Given the description of an element on the screen output the (x, y) to click on. 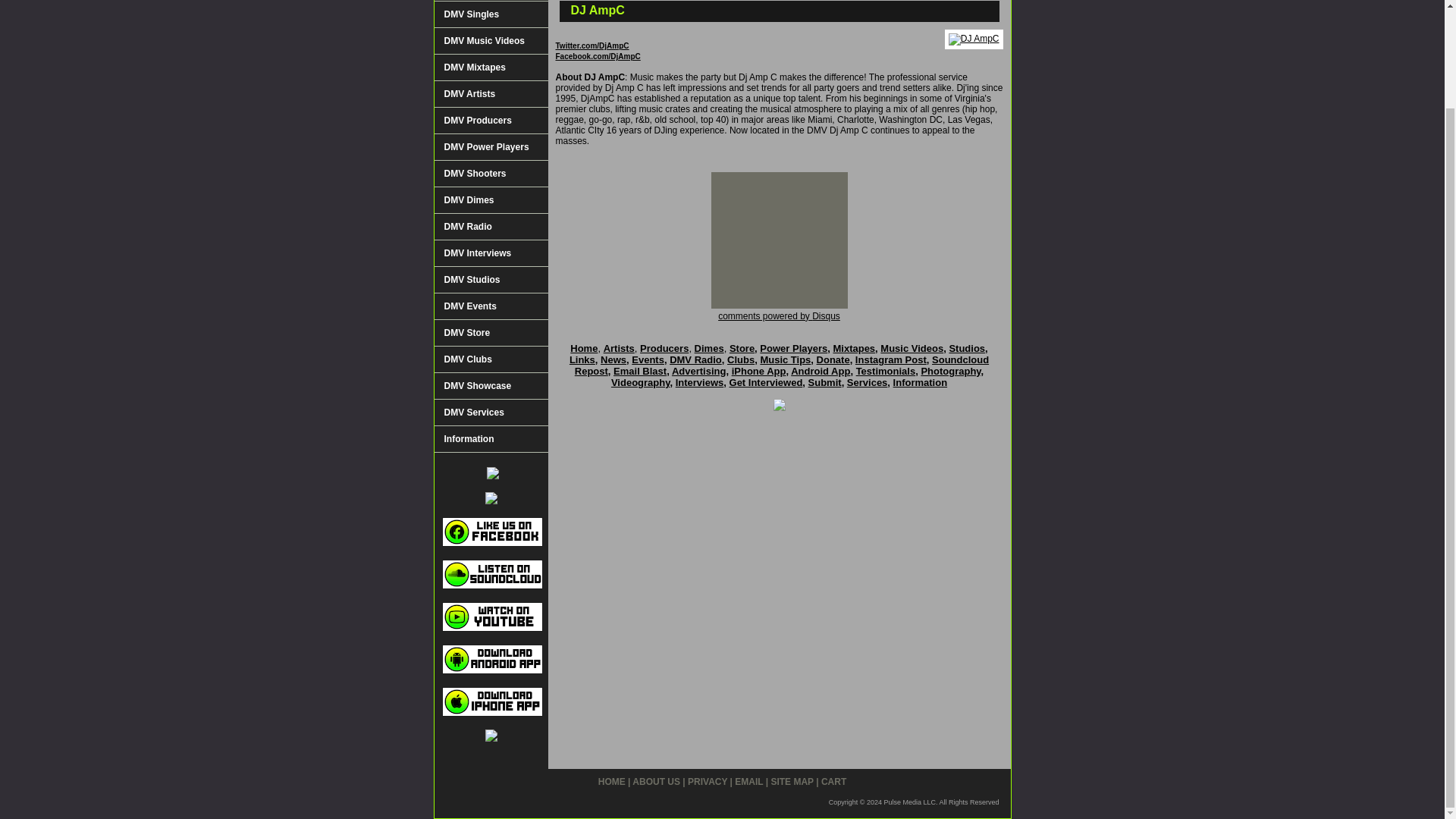
Advertising (698, 370)
DMV Artists (490, 94)
Studios (967, 348)
Clubs (740, 359)
DMV Interviews (490, 253)
Dimes (708, 348)
DMV Singles (490, 14)
Home (583, 348)
DMV Events (490, 306)
Photography (949, 370)
DMV Mixtapes (490, 67)
DMV Power Players (490, 147)
DMV Showcase (490, 386)
DMV Dimes (490, 200)
Artists (619, 348)
